Given the description of an element on the screen output the (x, y) to click on. 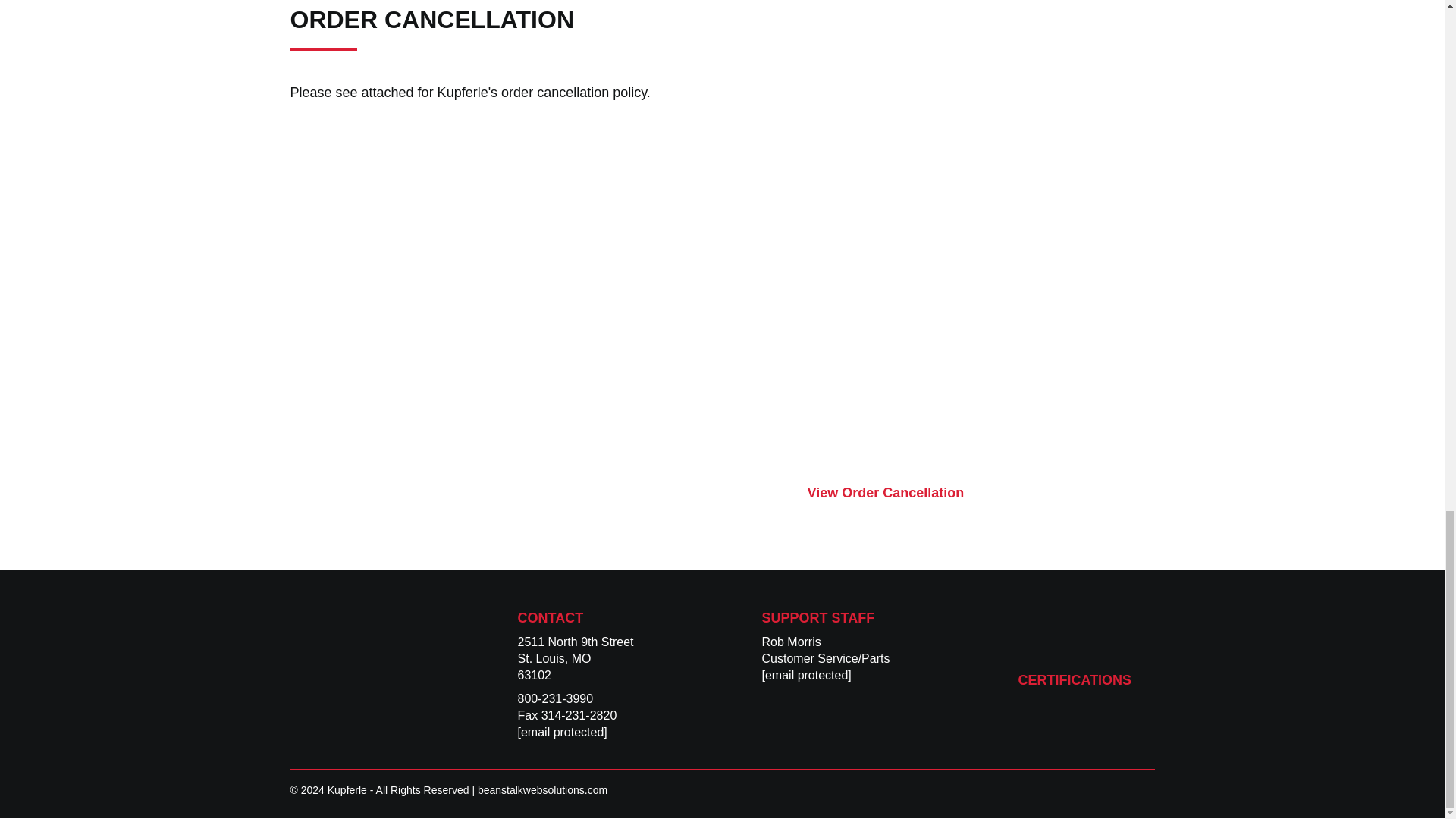
beanstalkwebsolutions.com (542, 789)
800-231-3990 (556, 698)
View Order Cancellation (980, 492)
